Given the description of an element on the screen output the (x, y) to click on. 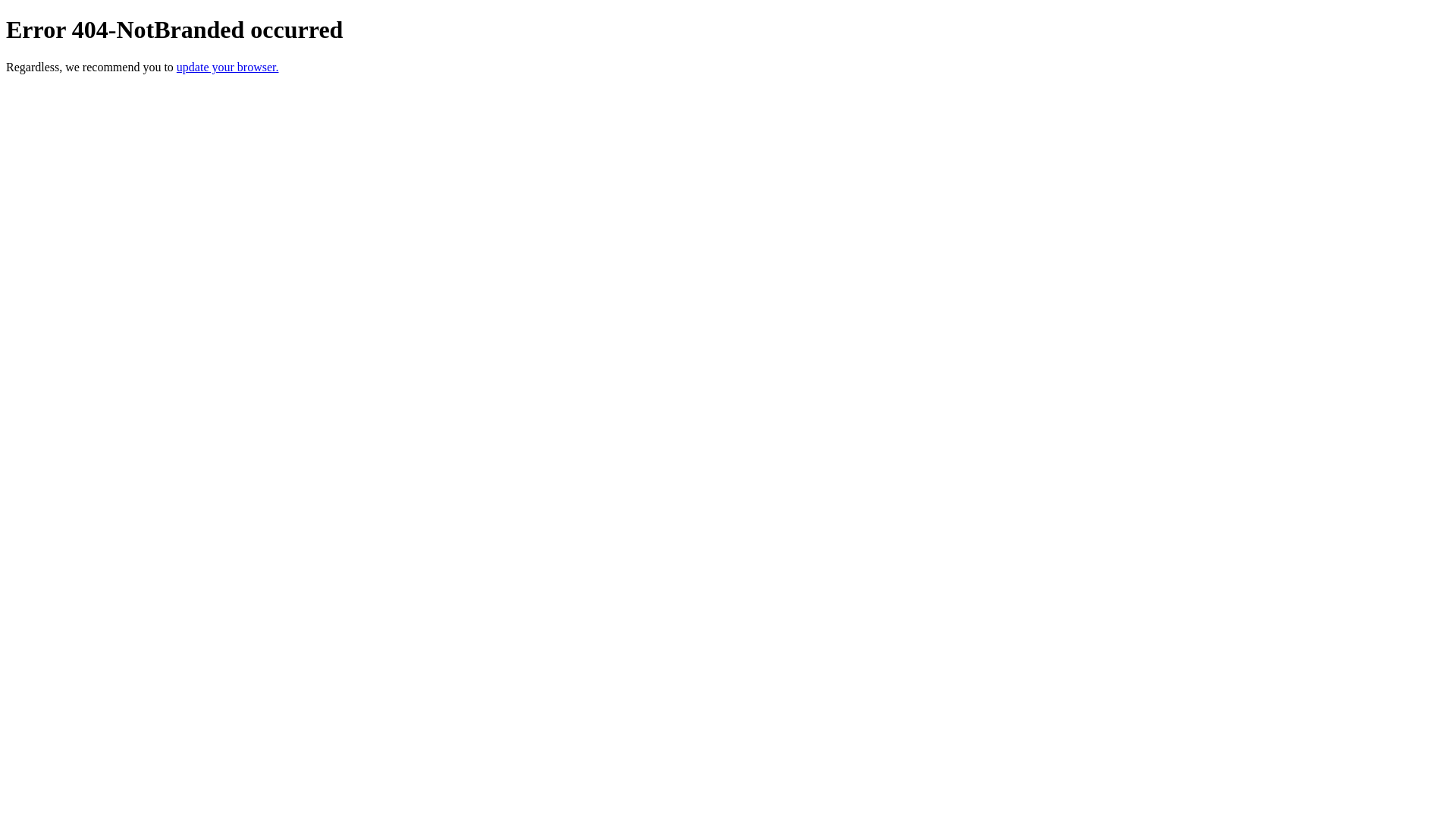
update your browser. Element type: text (227, 66)
